Given the description of an element on the screen output the (x, y) to click on. 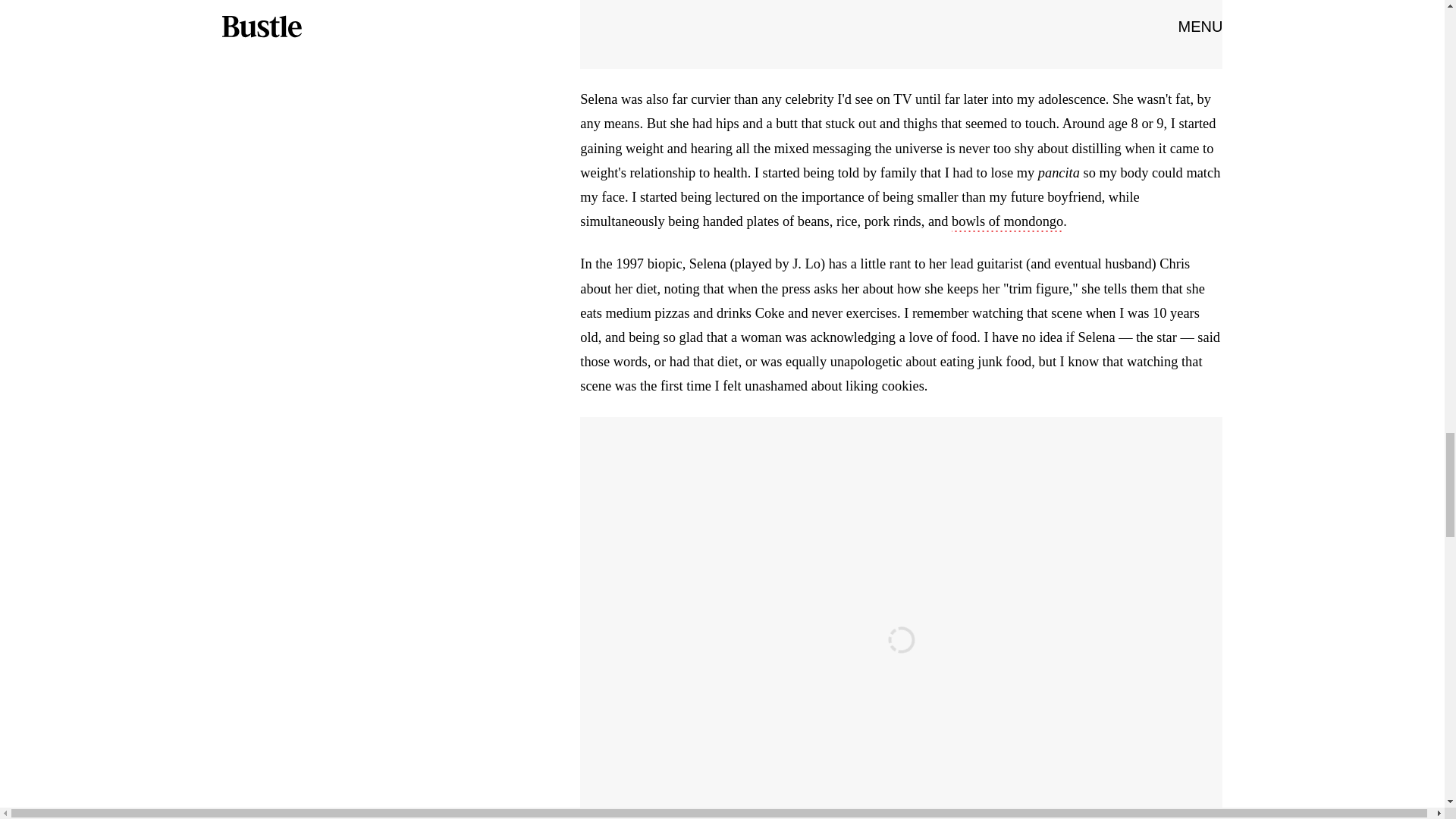
bowls of mondongo (1007, 222)
